Given the description of an element on the screen output the (x, y) to click on. 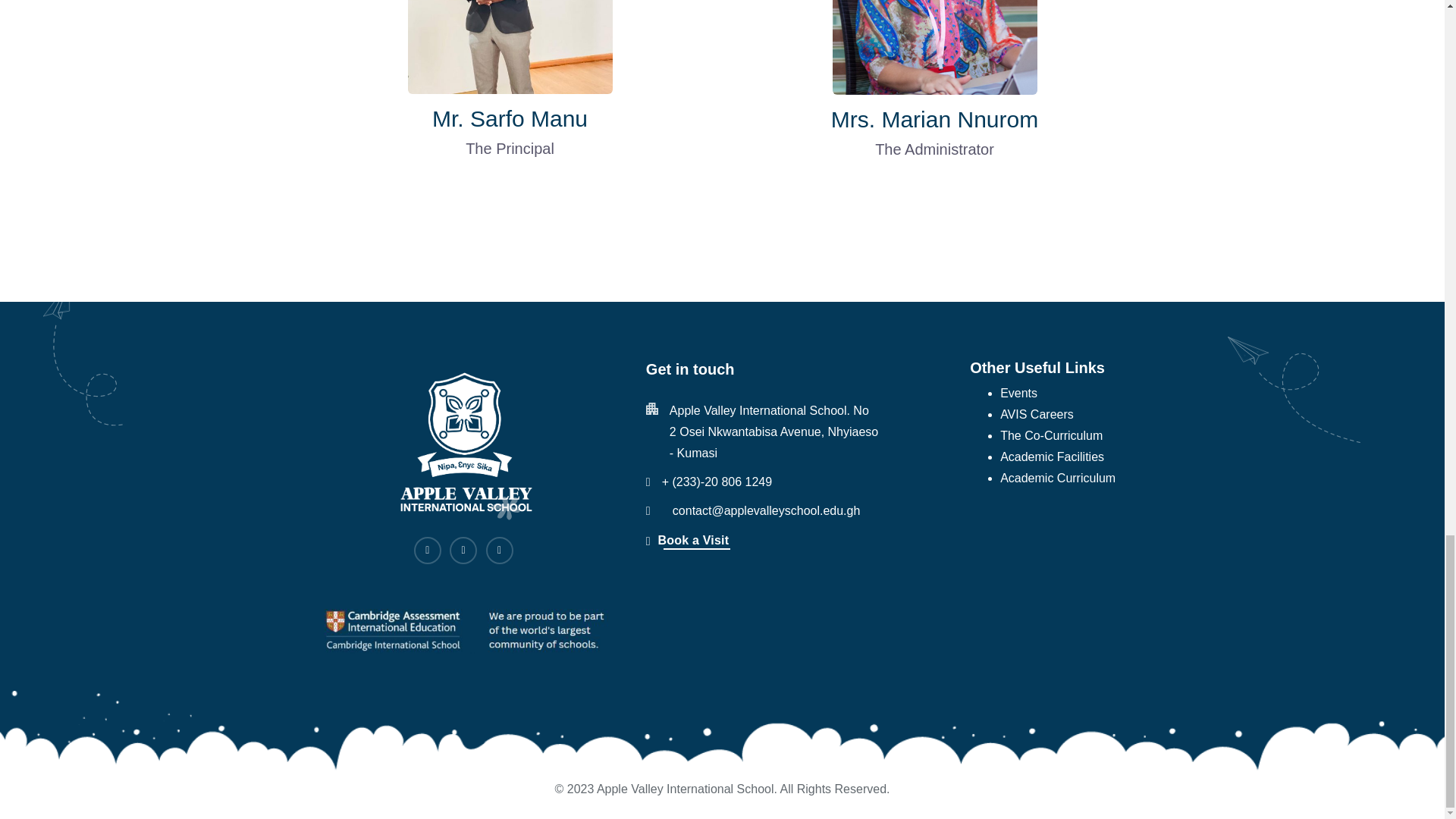
Book a Visit (687, 540)
Academic Facilities (1051, 456)
WhatsApp Image 2023-02-09 at 14.54.21 (509, 47)
AVIS Careers (1037, 414)
Events (1018, 393)
Academic Curriculum (1057, 477)
The Co-Curriculum (1051, 435)
